Given the description of an element on the screen output the (x, y) to click on. 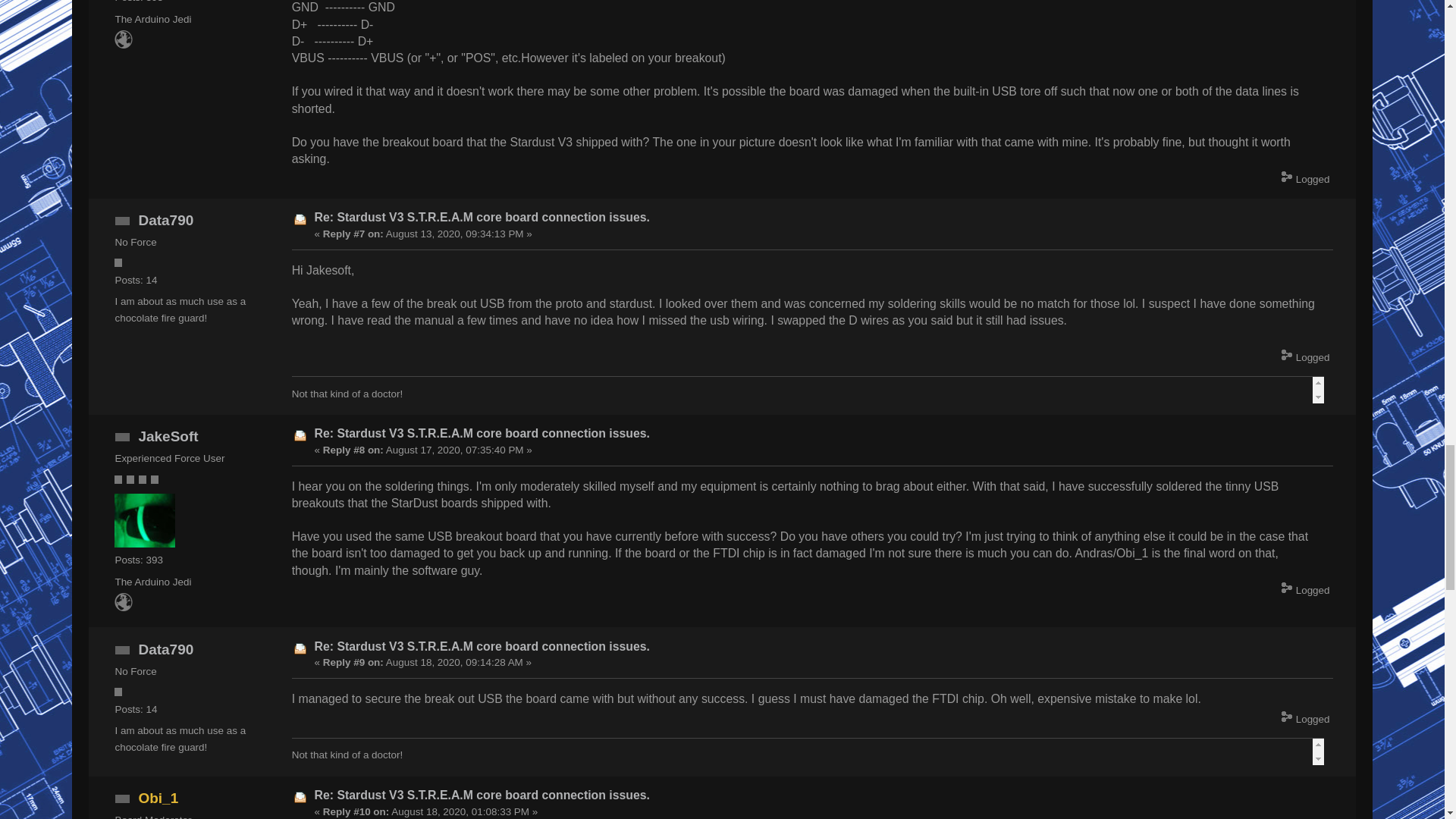
View the profile of Data790 (165, 649)
Universal Saber Library (123, 44)
View the profile of JakeSoft (168, 436)
View the profile of Data790 (165, 220)
Universal Saber Library (123, 607)
